Given the description of an element on the screen output the (x, y) to click on. 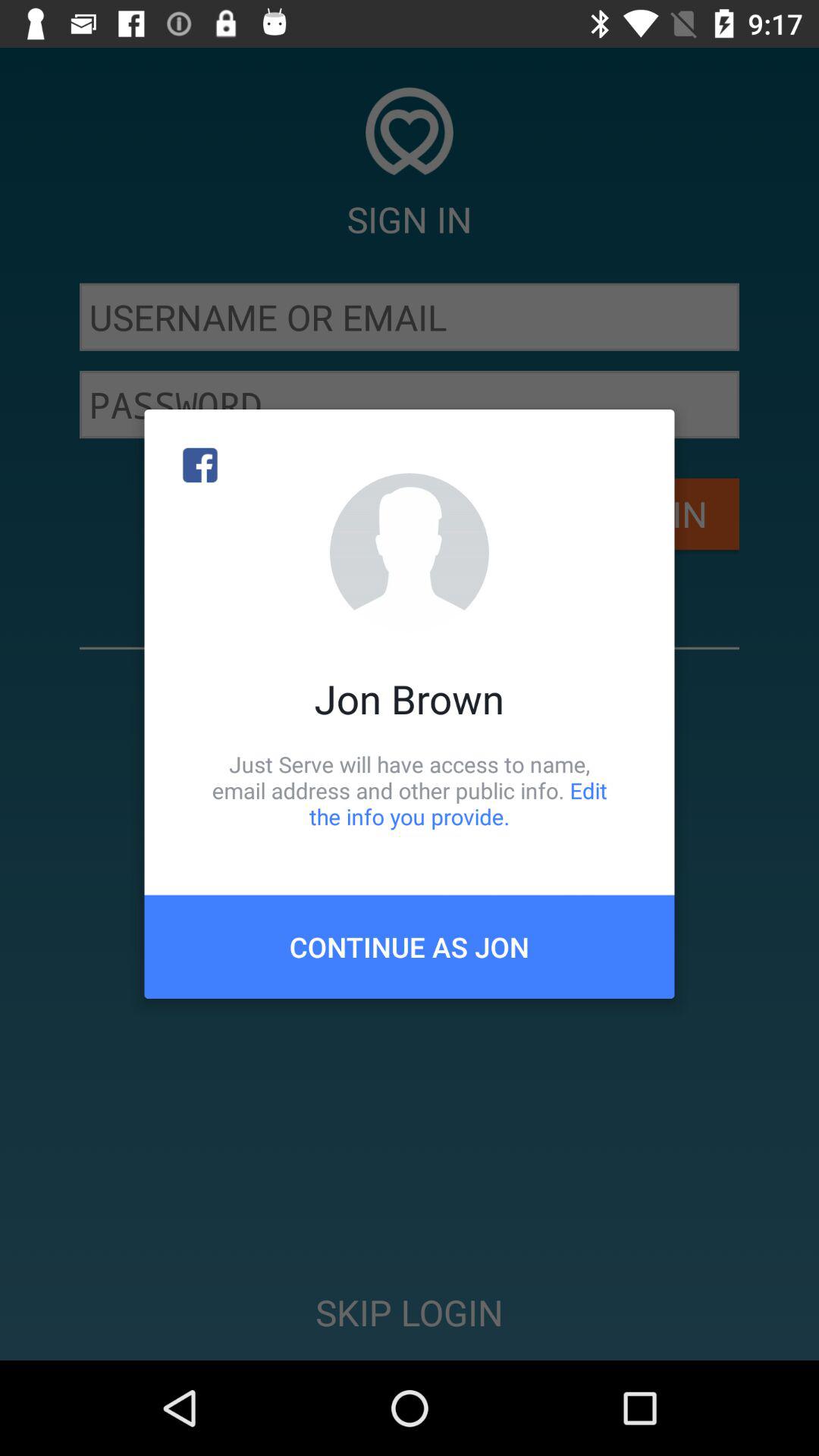
click icon below jon brown icon (409, 790)
